Given the description of an element on the screen output the (x, y) to click on. 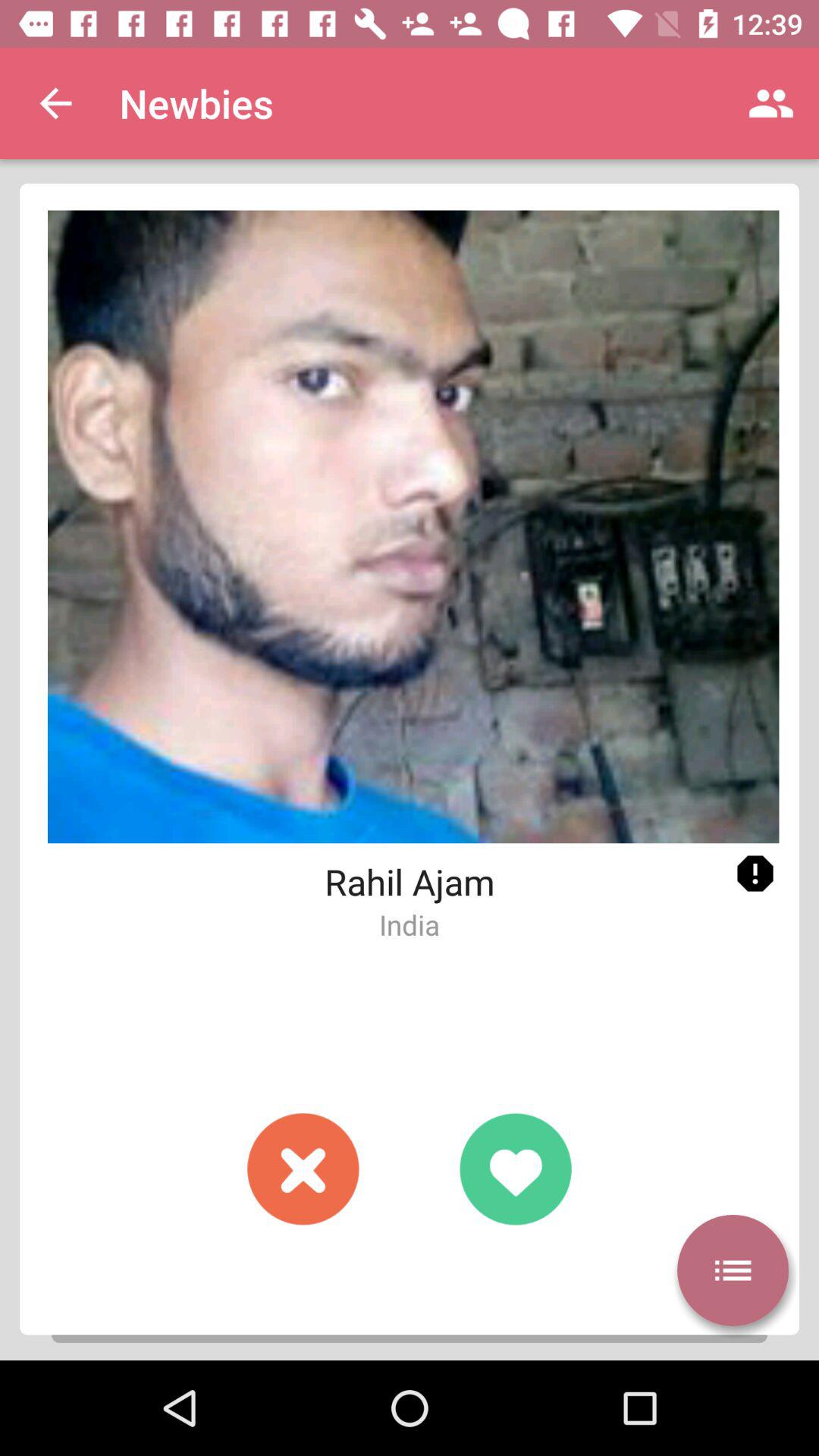
select to like (515, 1169)
